Given the description of an element on the screen output the (x, y) to click on. 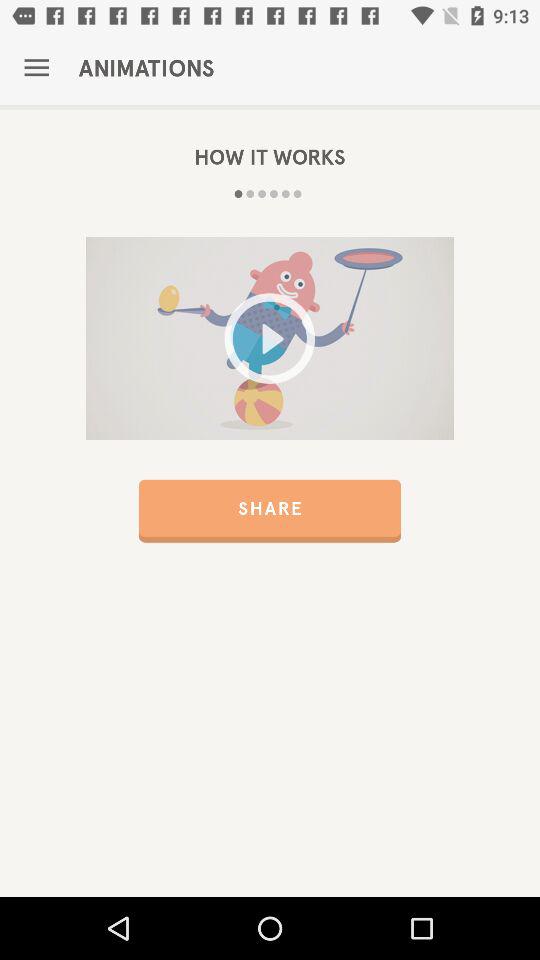
open item next to the animations (36, 68)
